Given the description of an element on the screen output the (x, y) to click on. 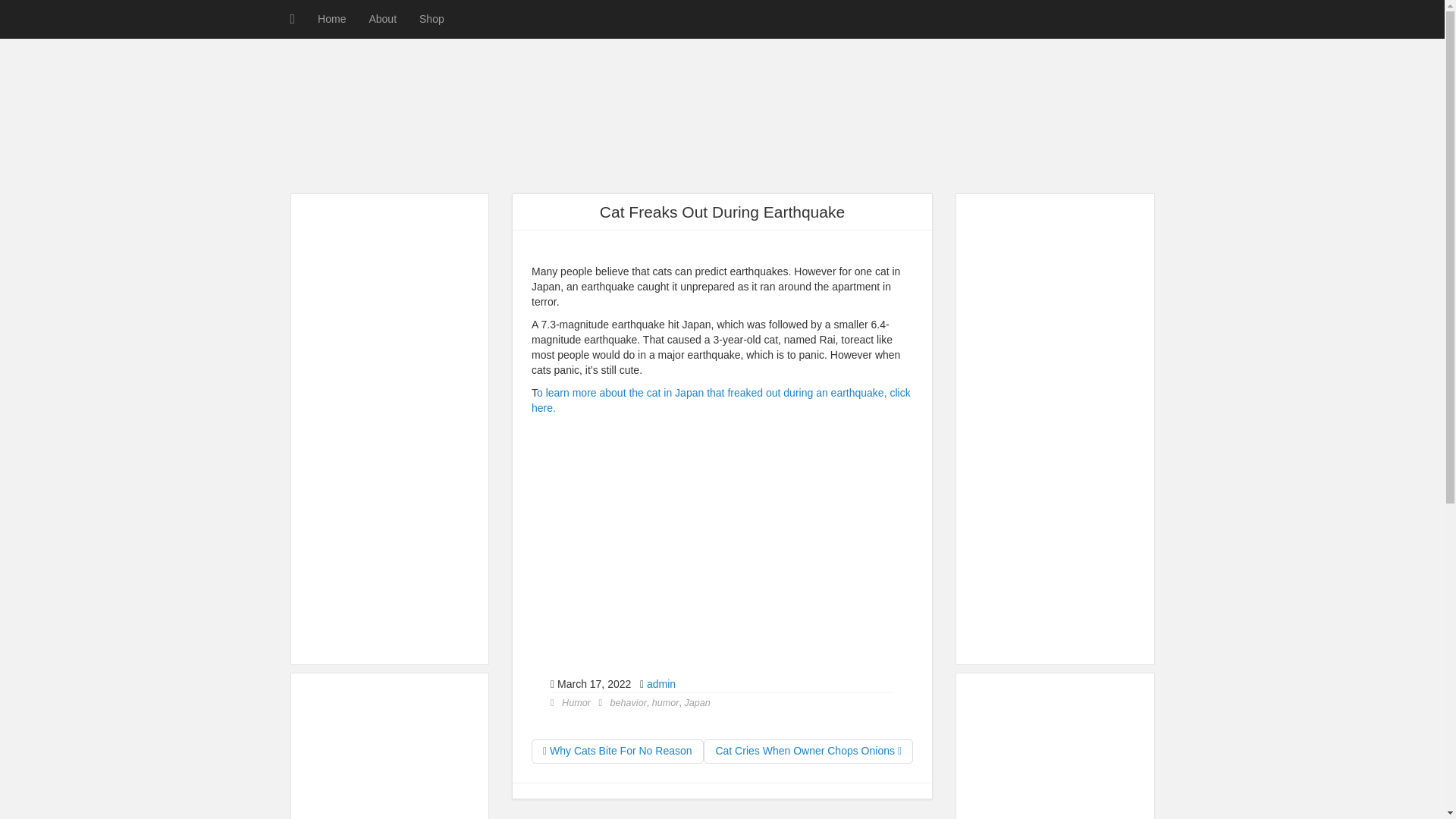
Humor (576, 702)
Home (330, 18)
Shop (431, 18)
humor (665, 702)
Home (330, 18)
About (381, 18)
Why Cats Bite For No Reason (617, 751)
behavior (628, 702)
Cat Cries When Owner Chops Onions (807, 751)
About (381, 18)
Shop (431, 18)
Posts by admin (660, 684)
Japan (697, 702)
admin (660, 684)
